Given the description of an element on the screen output the (x, y) to click on. 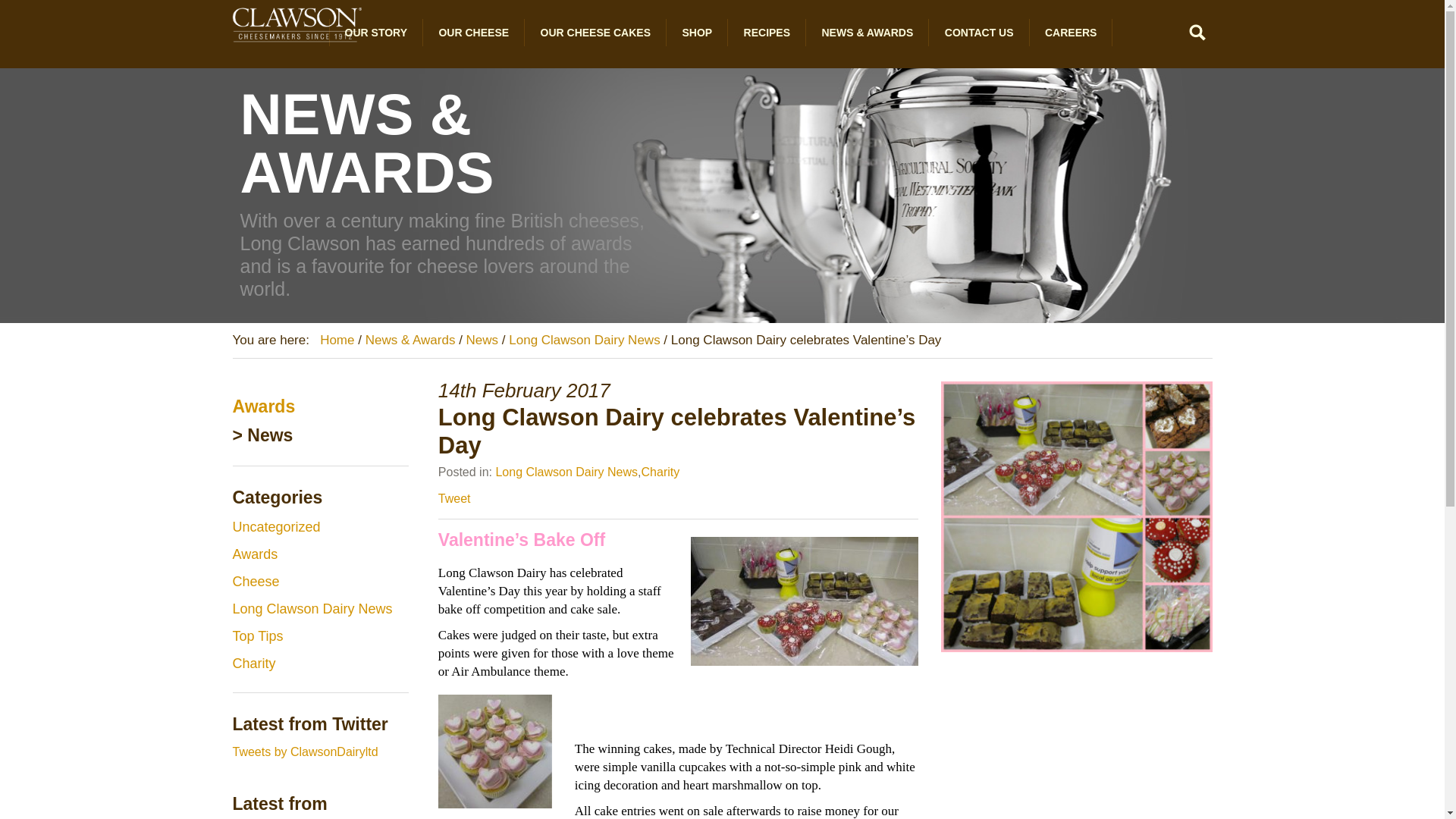
Charity (660, 472)
OUR CHEESE (473, 31)
Go to News. (482, 339)
Long Clawson Dairy News (566, 472)
valentine's bake sale (804, 601)
Go to Long Clawson Dairy. (336, 339)
Long Clawson Dairy News (583, 339)
Tweet (454, 498)
RECIPES (767, 31)
News (482, 339)
SHOP (697, 31)
OUR STORY (376, 31)
CAREERS (1070, 31)
valentine's cupcakes (494, 751)
Go to the Long Clawson Dairy News Category archives. (583, 339)
